Given the description of an element on the screen output the (x, y) to click on. 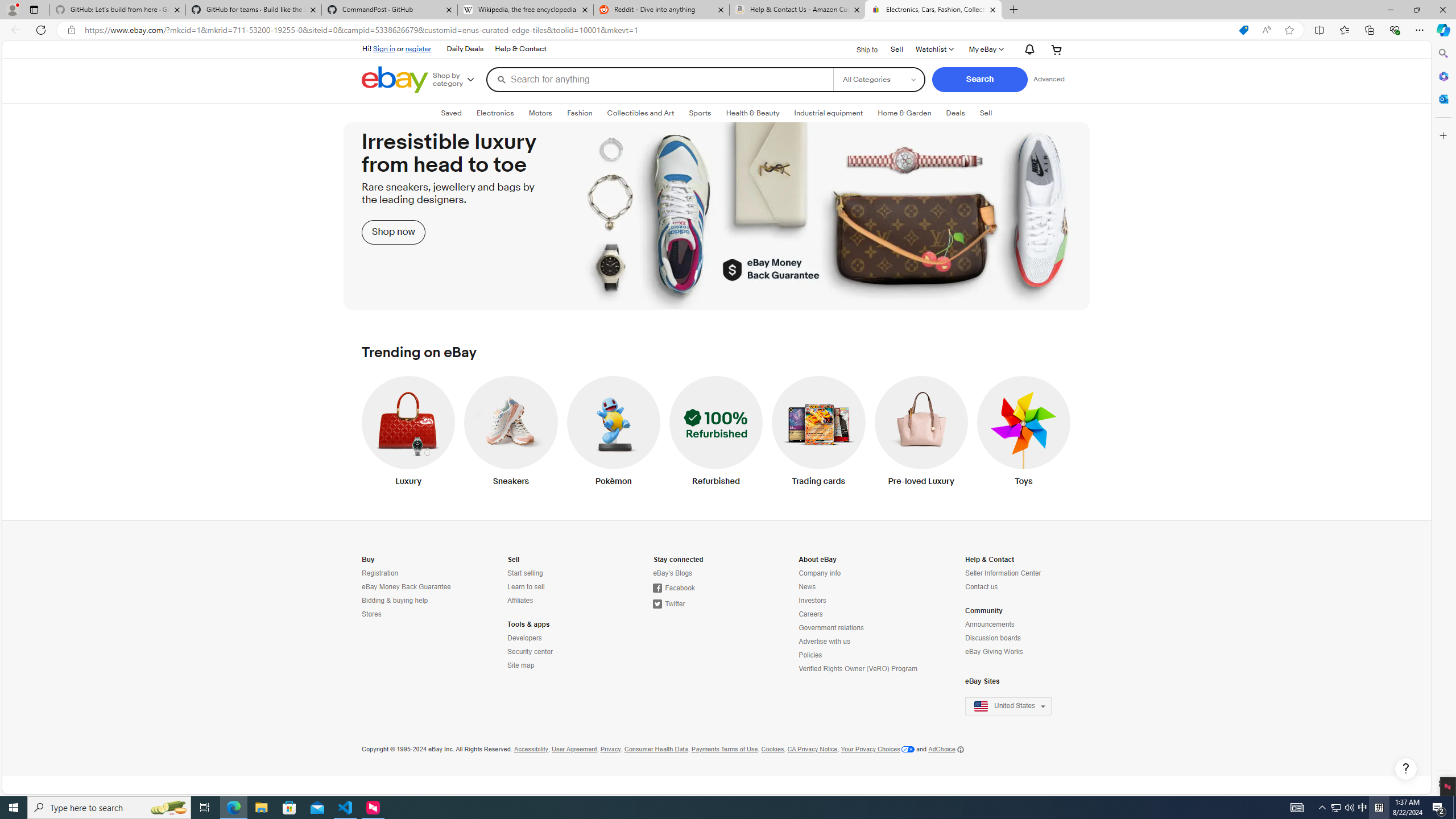
Registration (412, 573)
register (417, 48)
Discussion boards (993, 638)
My eBayExpand My eBay (985, 49)
Daily Deals (464, 49)
MotorsExpand: Motors (540, 112)
Learn to sell (525, 587)
Payments Terms of Use (724, 749)
eBay Money Back Guarantee (412, 587)
Deals (955, 112)
Announcements (989, 624)
